Given the description of an element on the screen output the (x, y) to click on. 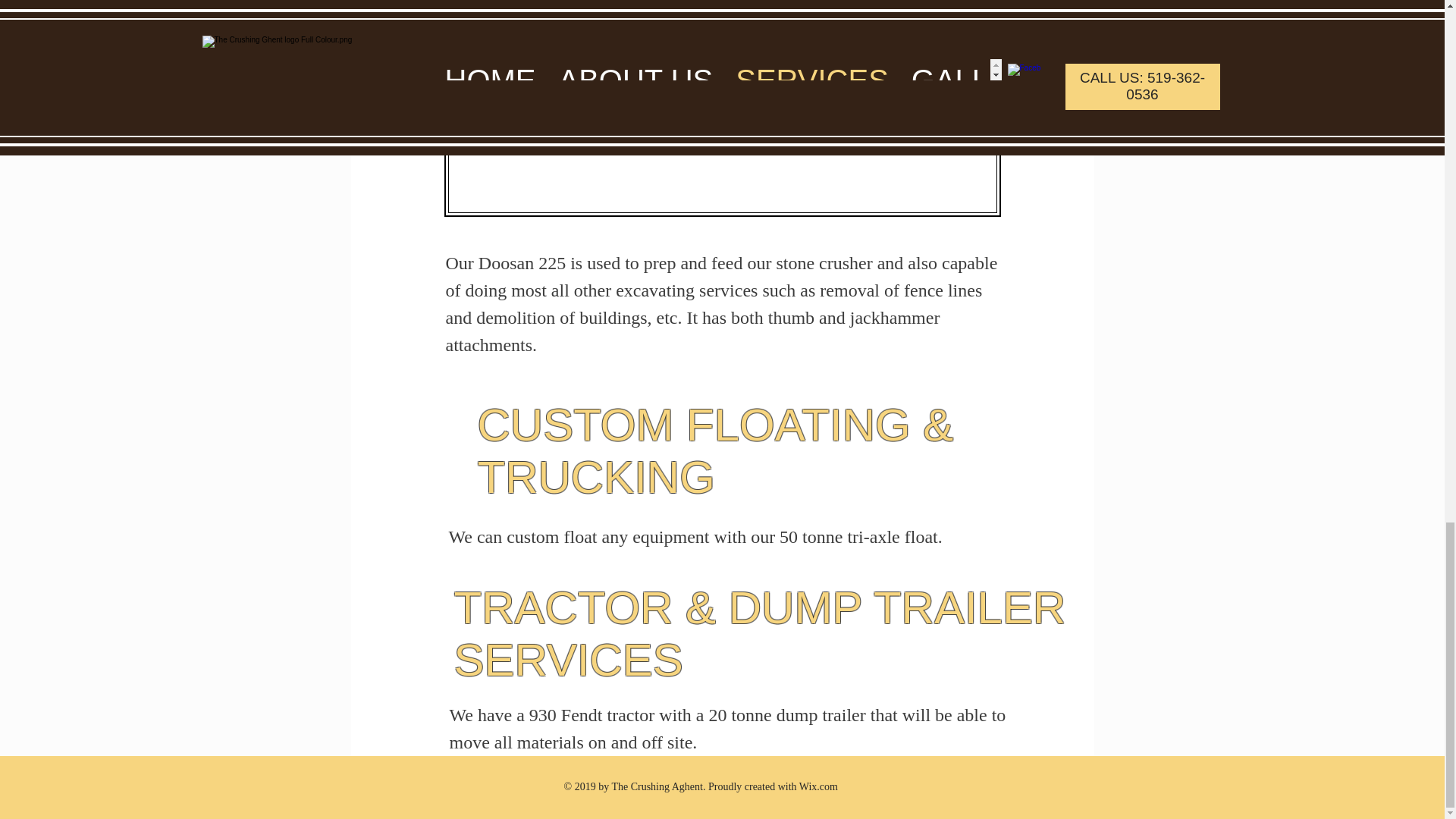
Wix.com (818, 786)
